Given the description of an element on the screen output the (x, y) to click on. 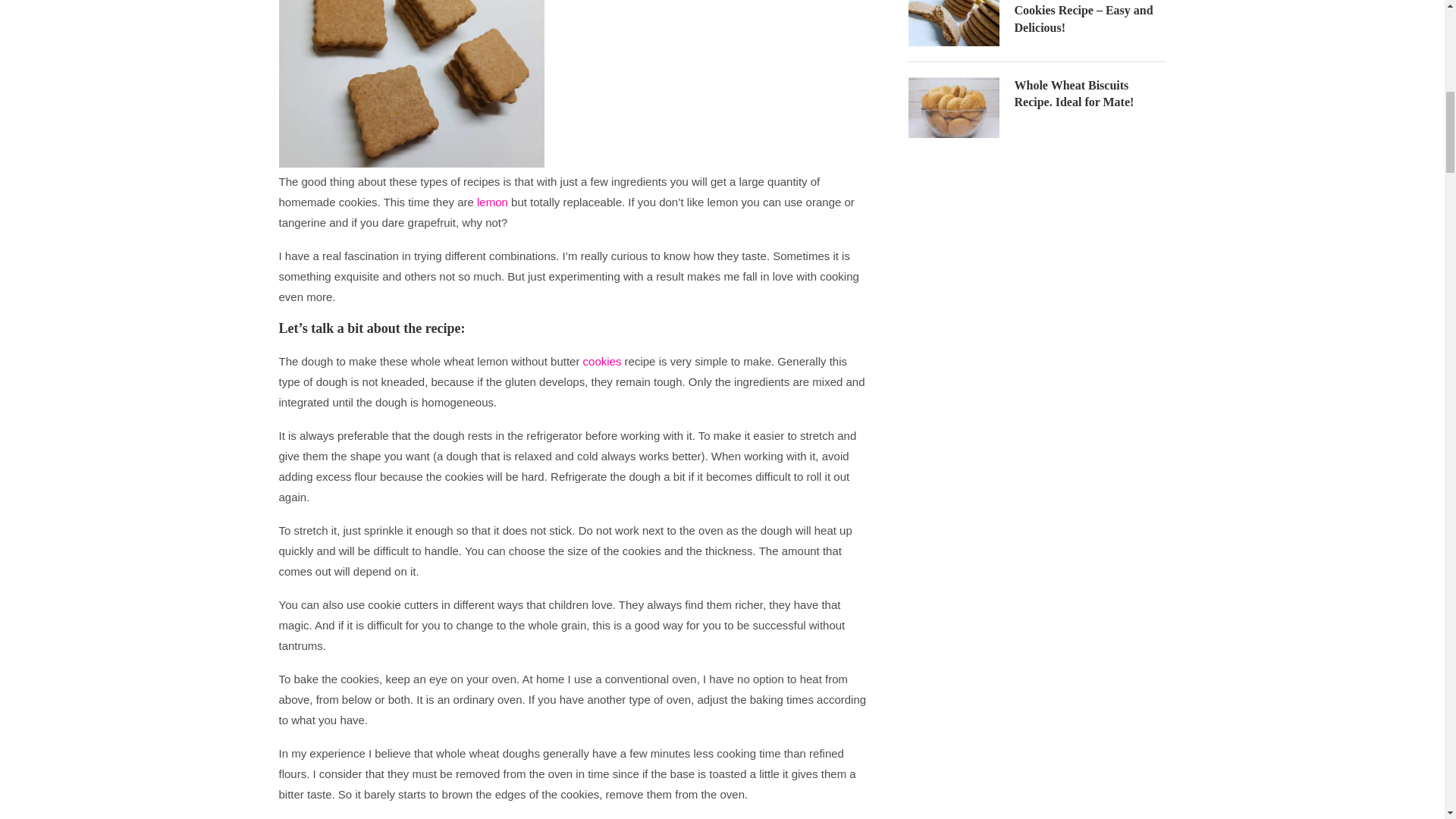
lemon (492, 201)
cookies (602, 360)
